Given the description of an element on the screen output the (x, y) to click on. 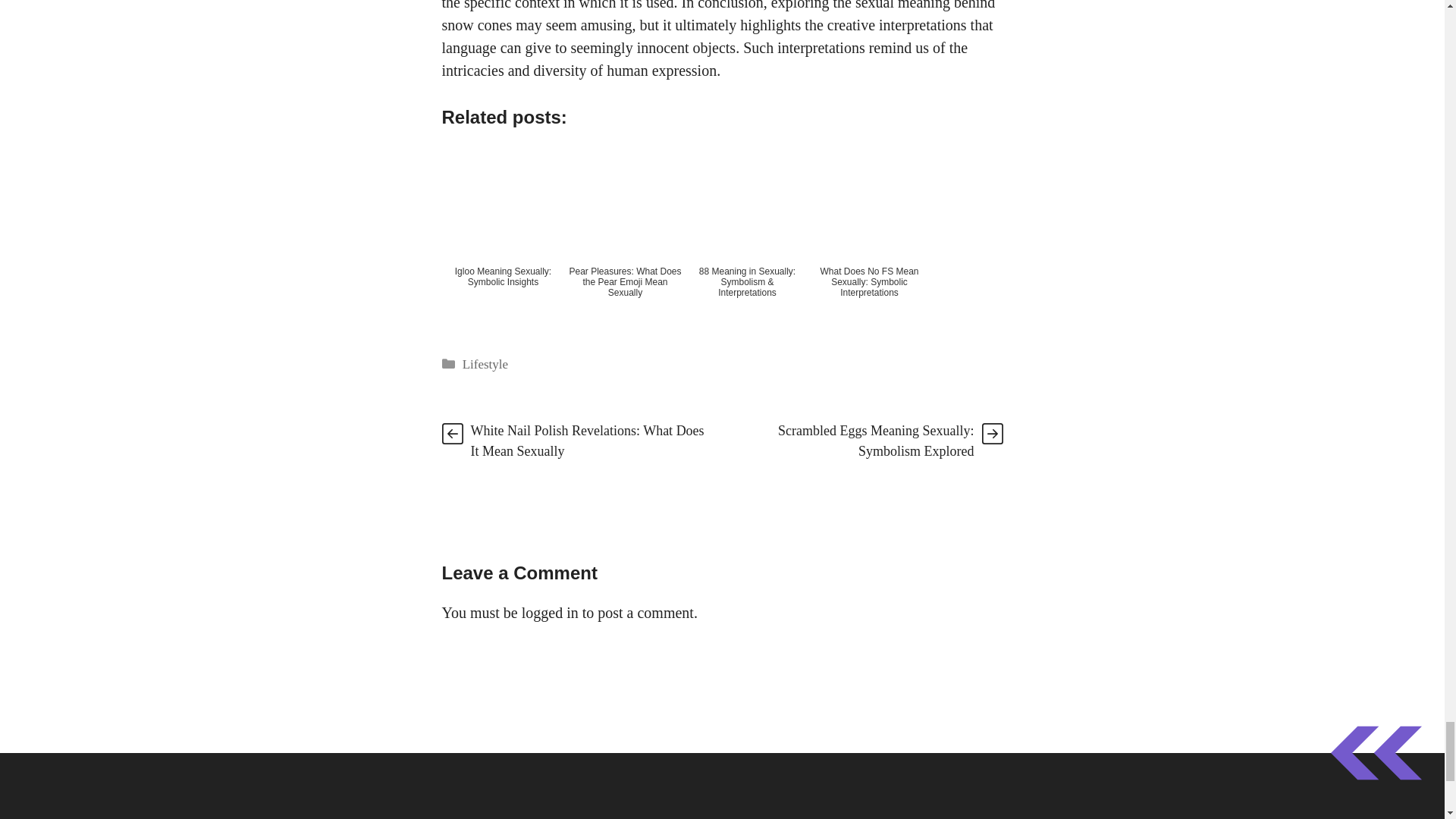
Lifestyle (485, 364)
White Nail Polish Revelations: What Does It Mean Sexually (586, 440)
Scrambled Eggs Meaning Sexually: Symbolism Explored (875, 440)
logged in (549, 612)
